Given the description of an element on the screen output the (x, y) to click on. 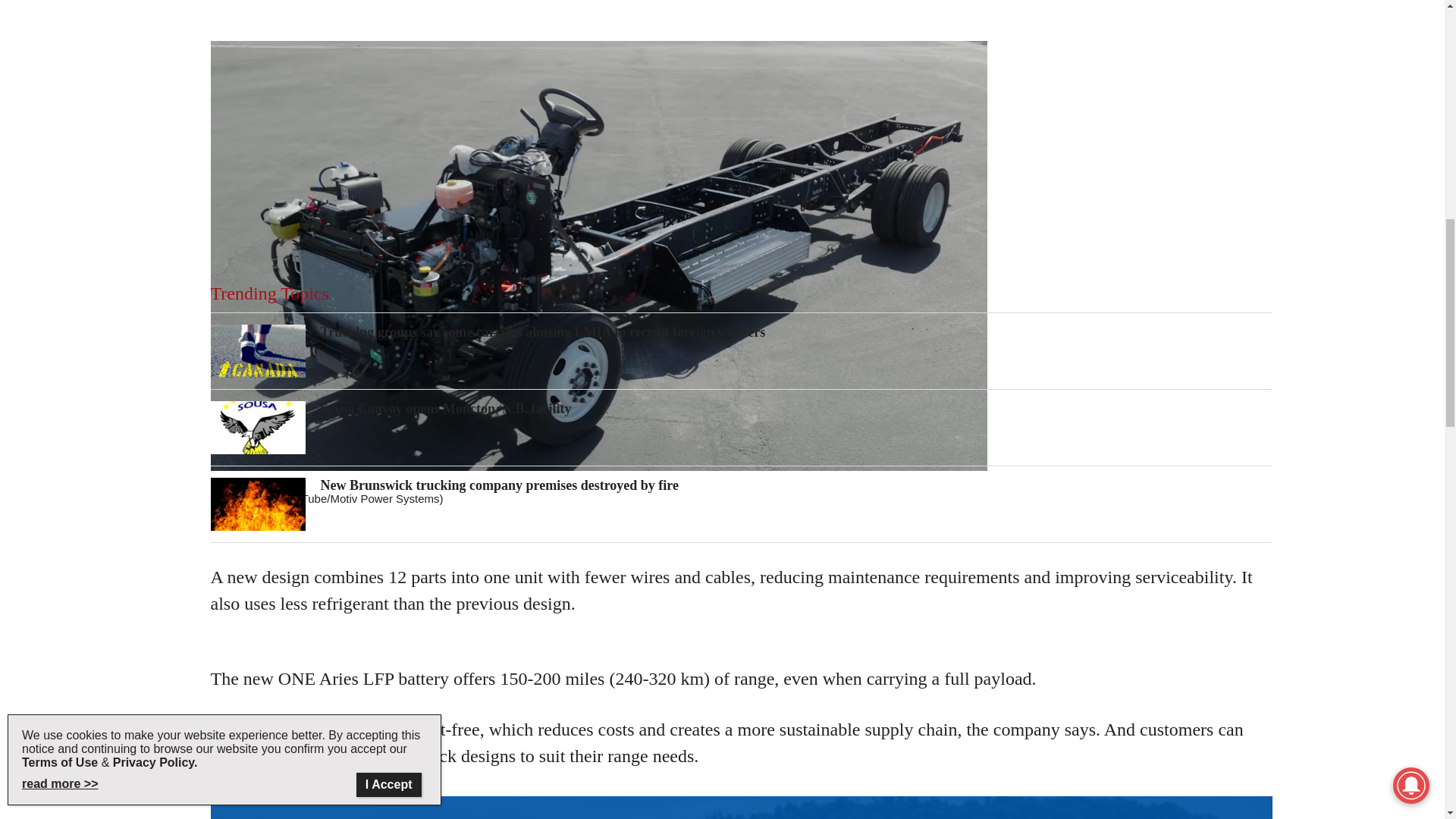
3rd party ad content (741, 13)
3rd party ad content (741, 154)
3rd party ad content (741, 669)
